Given the description of an element on the screen output the (x, y) to click on. 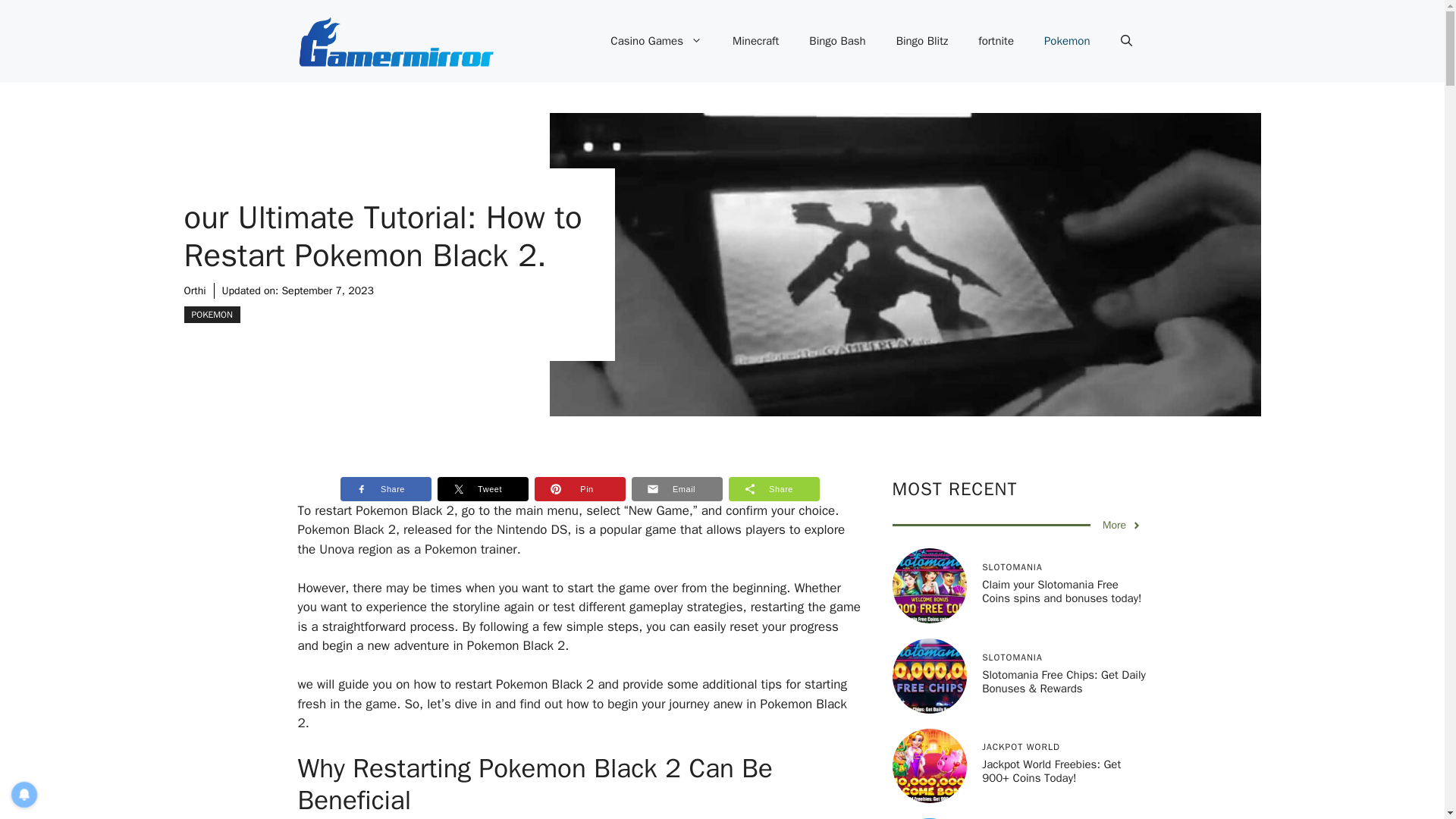
Bingo Blitz (921, 40)
fortnite (995, 40)
POKEMON (211, 314)
Casino Games (656, 40)
Minecraft (755, 40)
Orthi (194, 290)
Pokemon (1067, 40)
Bingo Bash (836, 40)
More (1121, 524)
Claim your Slotomania Free Coins spins and bonuses today! (1061, 591)
